Given the description of an element on the screen output the (x, y) to click on. 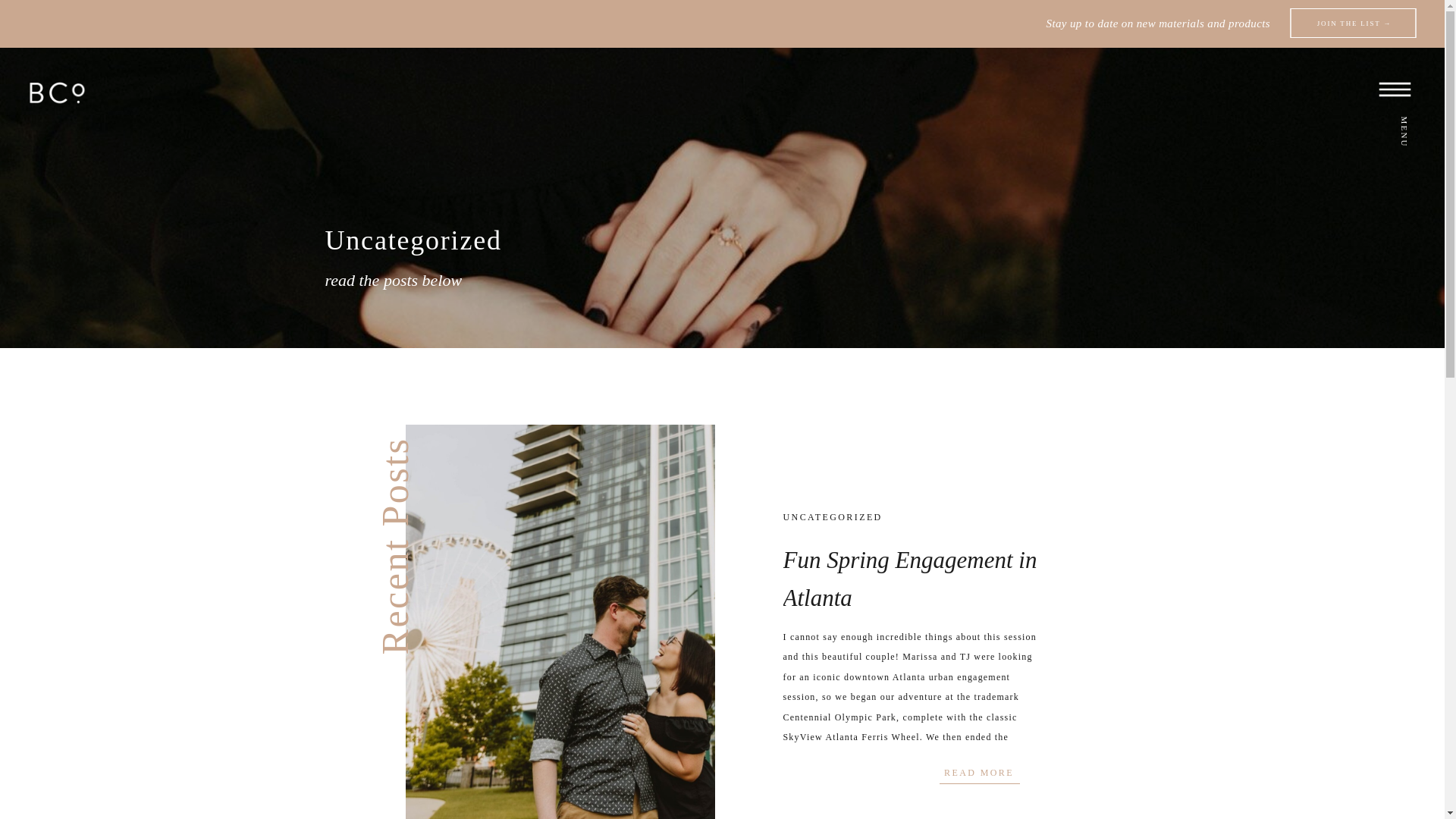
UNCATEGORIZED (832, 516)
Fun Spring Engagement in Atlanta (909, 578)
Fun Spring Engagement in Atlanta (979, 771)
Fun Spring Engagement in Atlanta (559, 622)
READ MORE (979, 771)
